Given the description of an element on the screen output the (x, y) to click on. 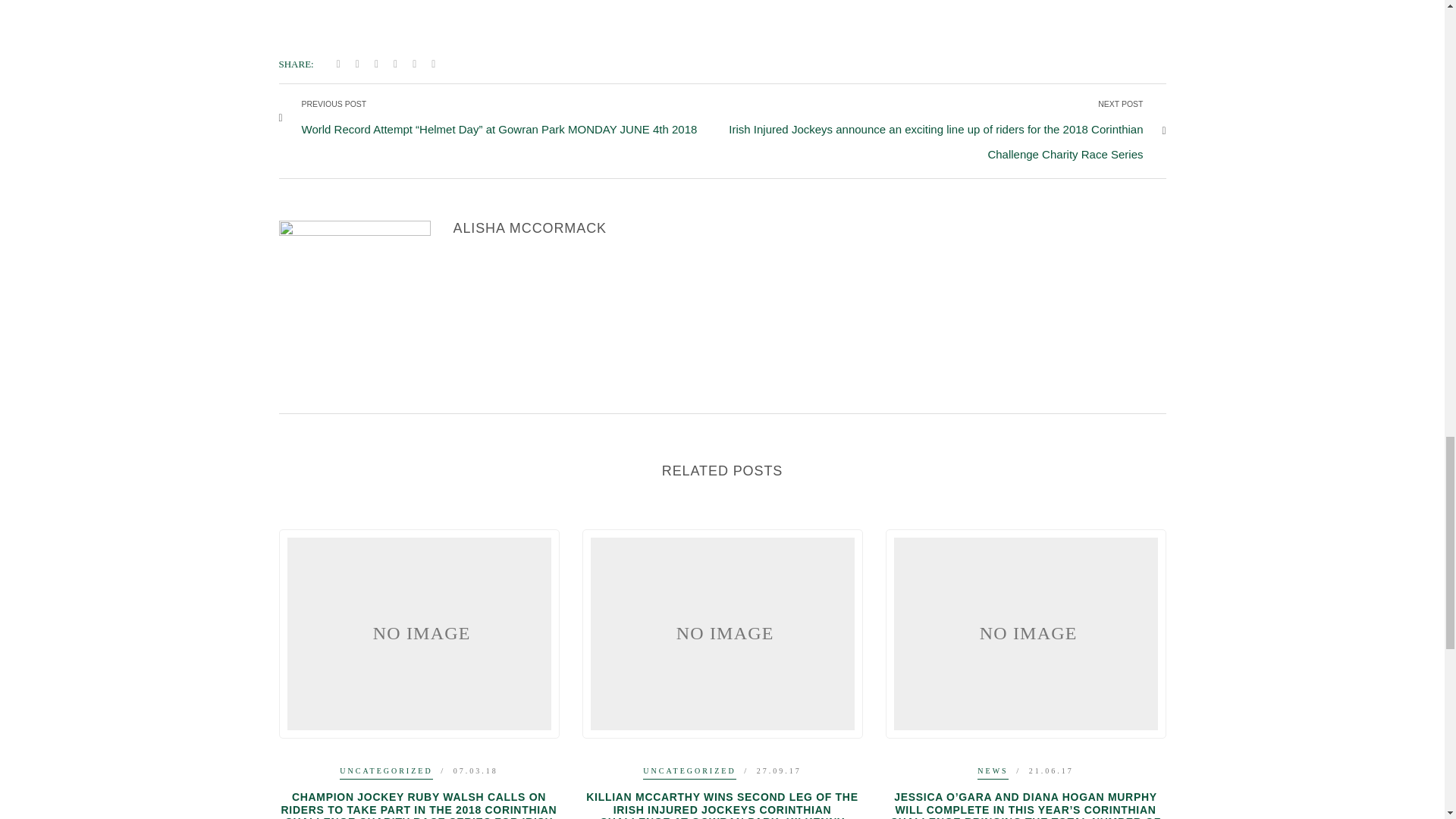
ALISHA MCCORMACK (529, 227)
UNCATEGORIZED (385, 772)
07.03.18 (474, 770)
Posts by Alisha McCormack (529, 227)
